Given the description of an element on the screen output the (x, y) to click on. 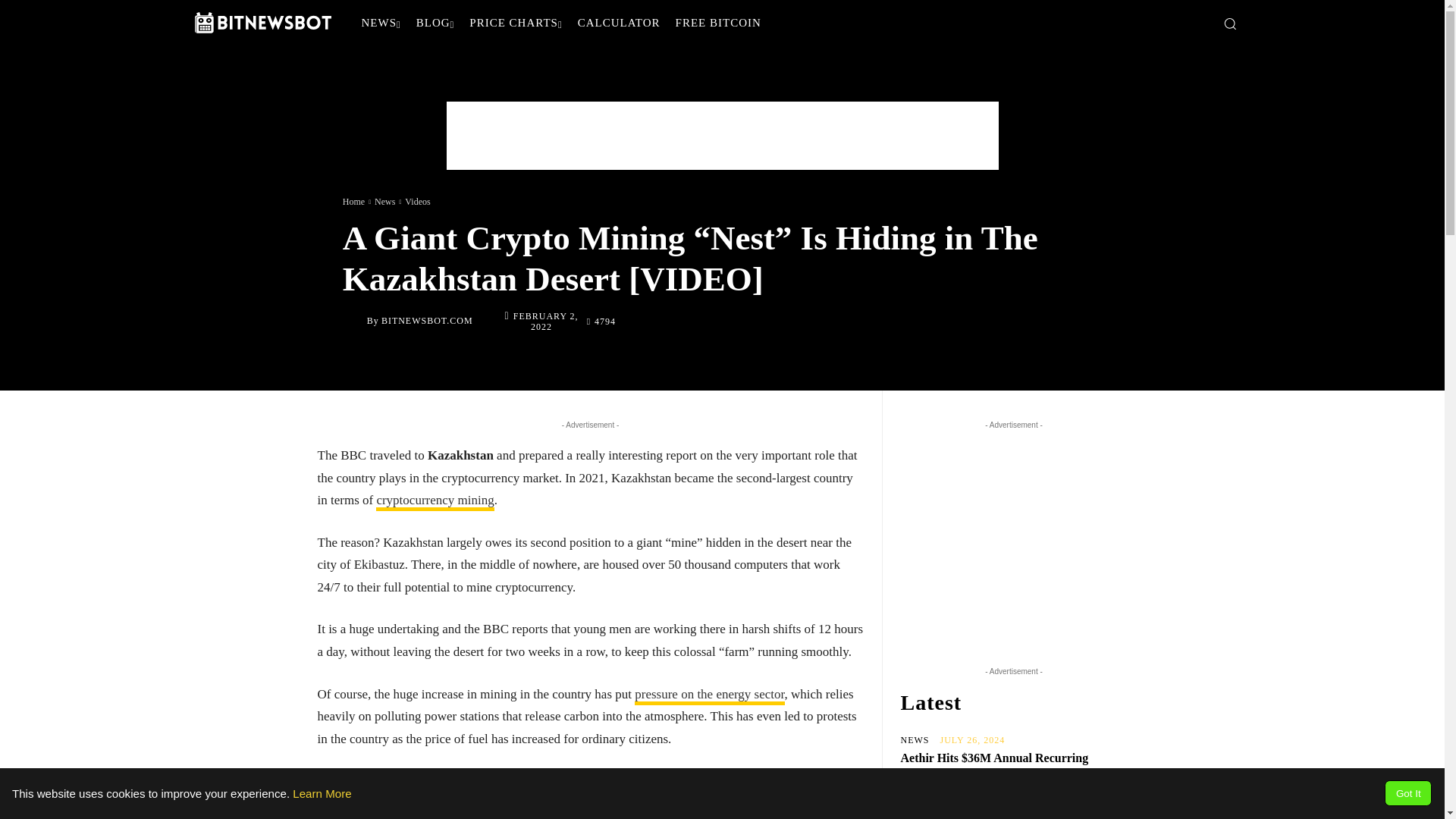
Learn More (321, 793)
Bitnewsbot.com (354, 320)
NEWS (380, 22)
View all posts in Videos (416, 200)
View all posts in News (384, 200)
BLOG (436, 22)
Got It (1407, 792)
PRICE CHARTS (515, 22)
Get Free Bitcoin Every 1 Hour (718, 22)
Learn More (321, 793)
